Given the description of an element on the screen output the (x, y) to click on. 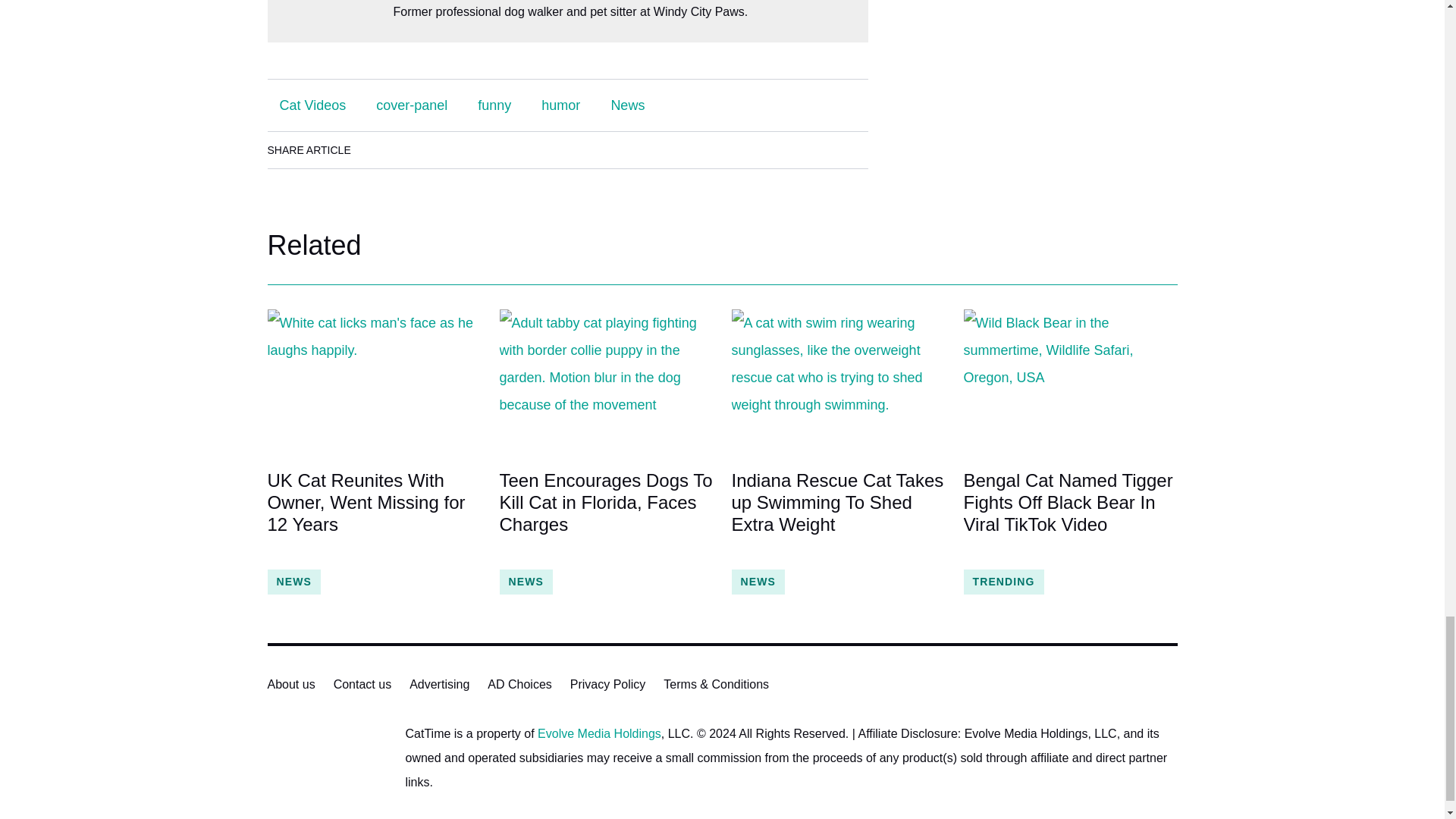
Teen Encourages Dogs To Kill Cat in Florida, Faces Charges (606, 380)
Indiana Rescue Cat Takes up Swimming To Shed Extra Weight (837, 513)
UK Cat Reunites With Owner, Went Missing for 12 Years (373, 513)
Teen Encourages Dogs To Kill Cat in Florida, Faces Charges (606, 513)
UK Cat Reunites With Owner, Went Missing for 12 Years (373, 380)
Indiana Rescue Cat Takes up Swimming To Shed Extra Weight (837, 380)
